Given the description of an element on the screen output the (x, y) to click on. 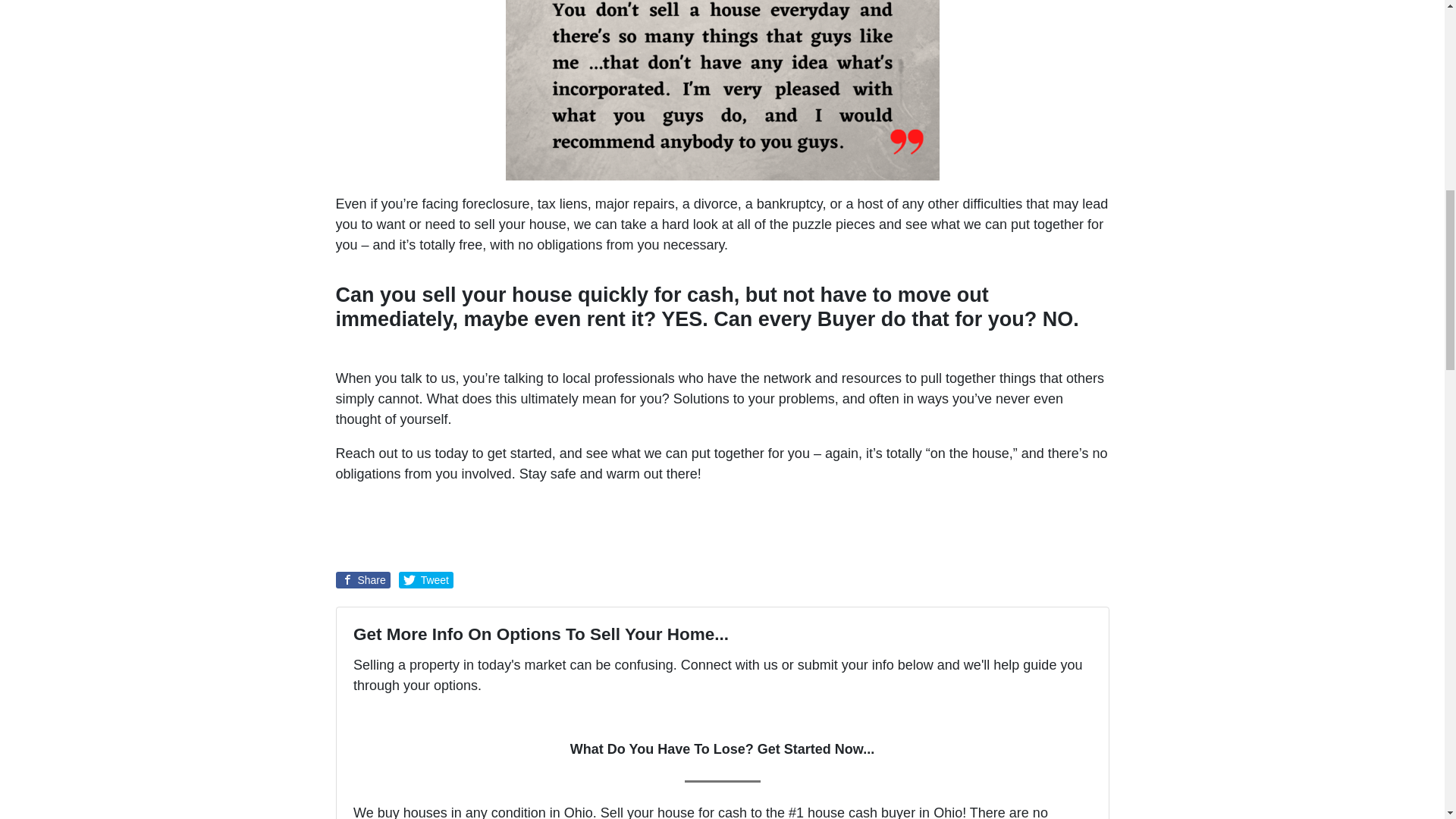
Share on Facebook (362, 579)
Tweet (425, 579)
Share on Twitter (425, 579)
Share (362, 579)
